Given the description of an element on the screen output the (x, y) to click on. 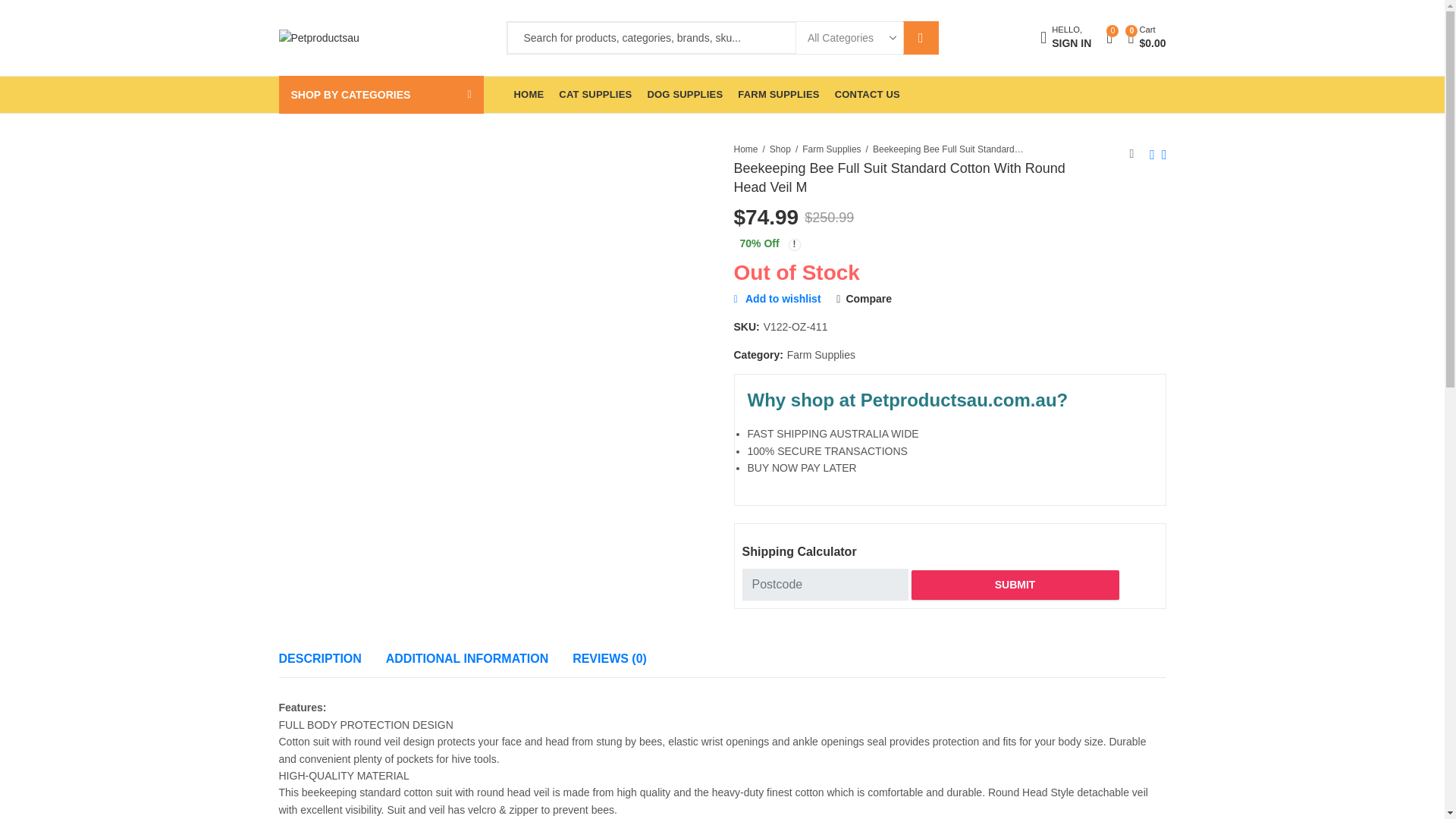
Submit (1015, 584)
SEARCH (1065, 38)
